Given the description of an element on the screen output the (x, y) to click on. 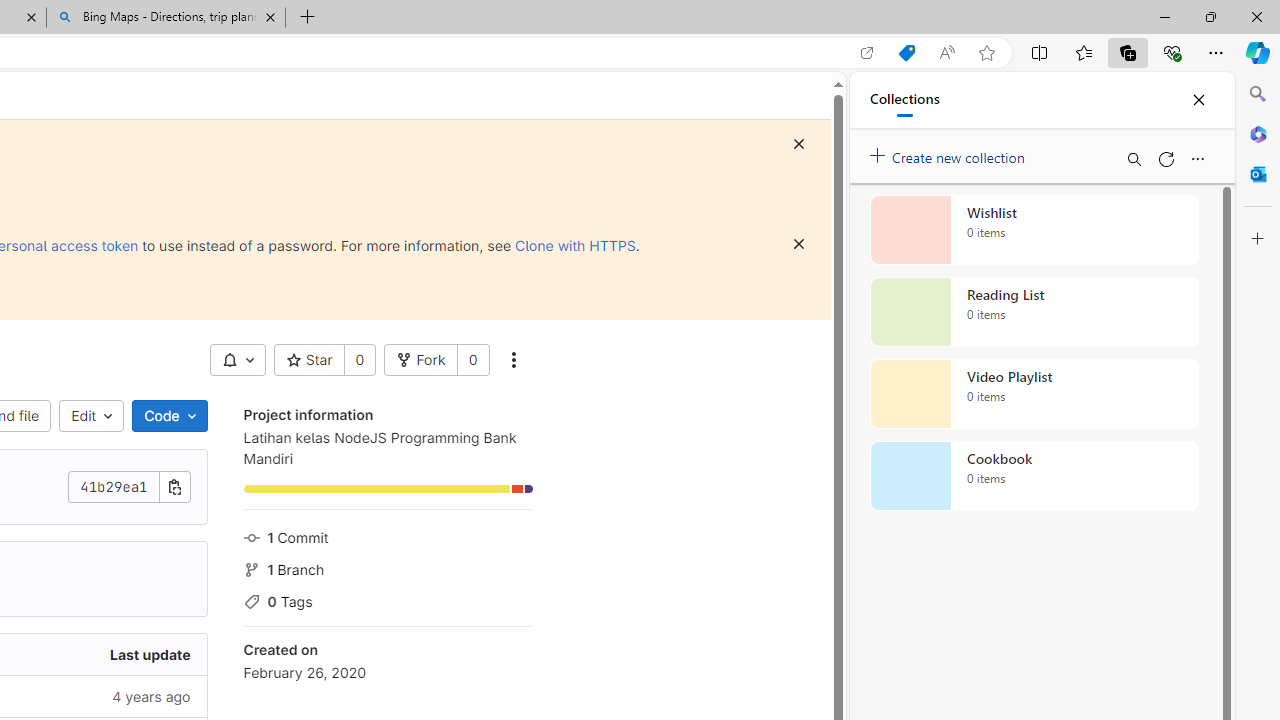
Class: s16 icon gl-mr-3 gl-text-gray-500 (251, 601)
More options menu (1197, 158)
Video Playlist collection, 0 items (1034, 394)
1 Commit (387, 536)
Search (1258, 94)
Collections (904, 99)
Copy commit SHA (173, 486)
Fork (421, 359)
Clone with HTTPS (575, 245)
Code (169, 416)
Settings and more (Alt+F) (1215, 52)
Edit (91, 416)
Create new collection (950, 153)
Favorites (1083, 52)
Copilot (Ctrl+Shift+.) (1258, 52)
